Given the description of an element on the screen output the (x, y) to click on. 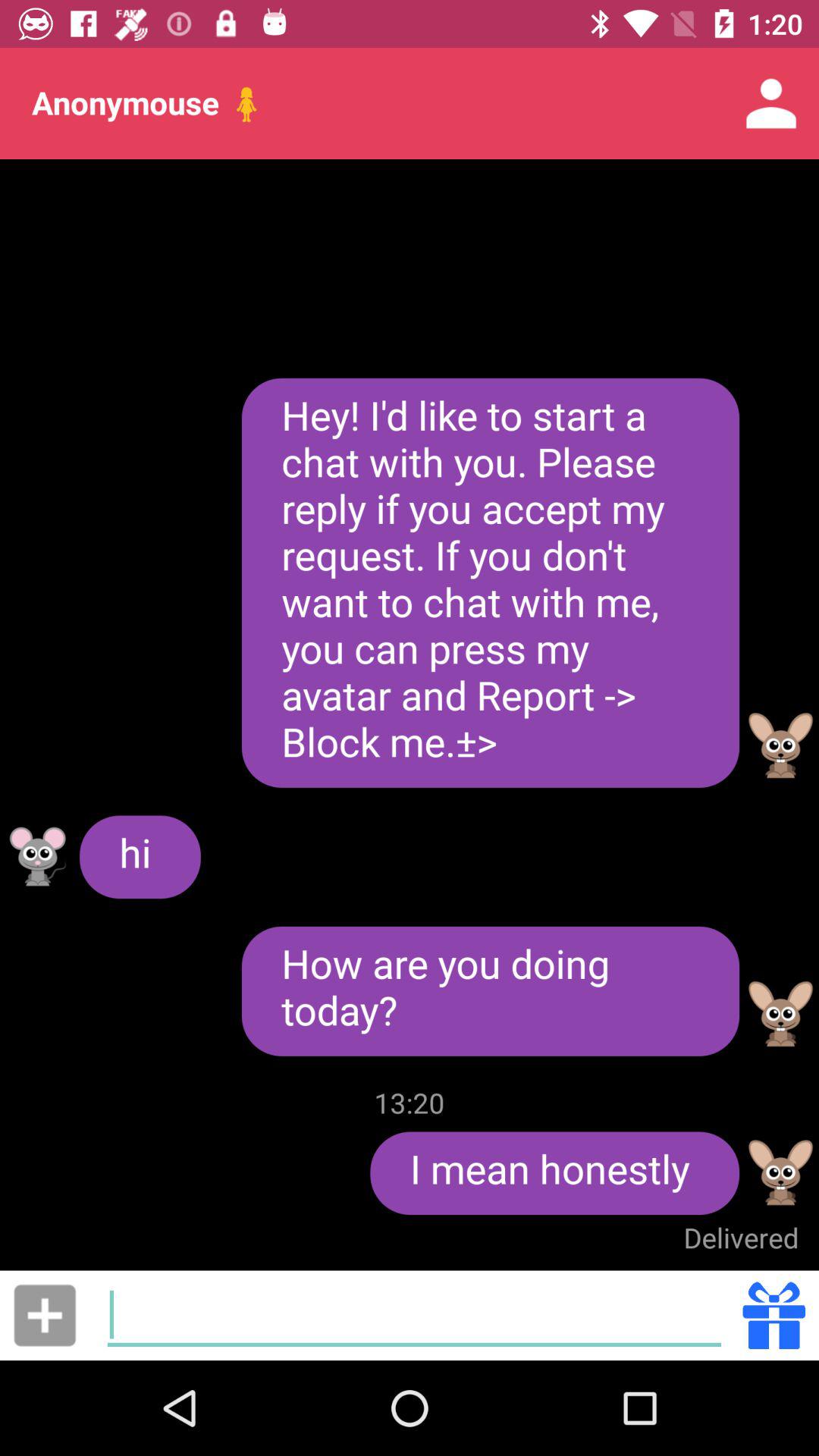
scroll until hi  icon (139, 856)
